Given the description of an element on the screen output the (x, y) to click on. 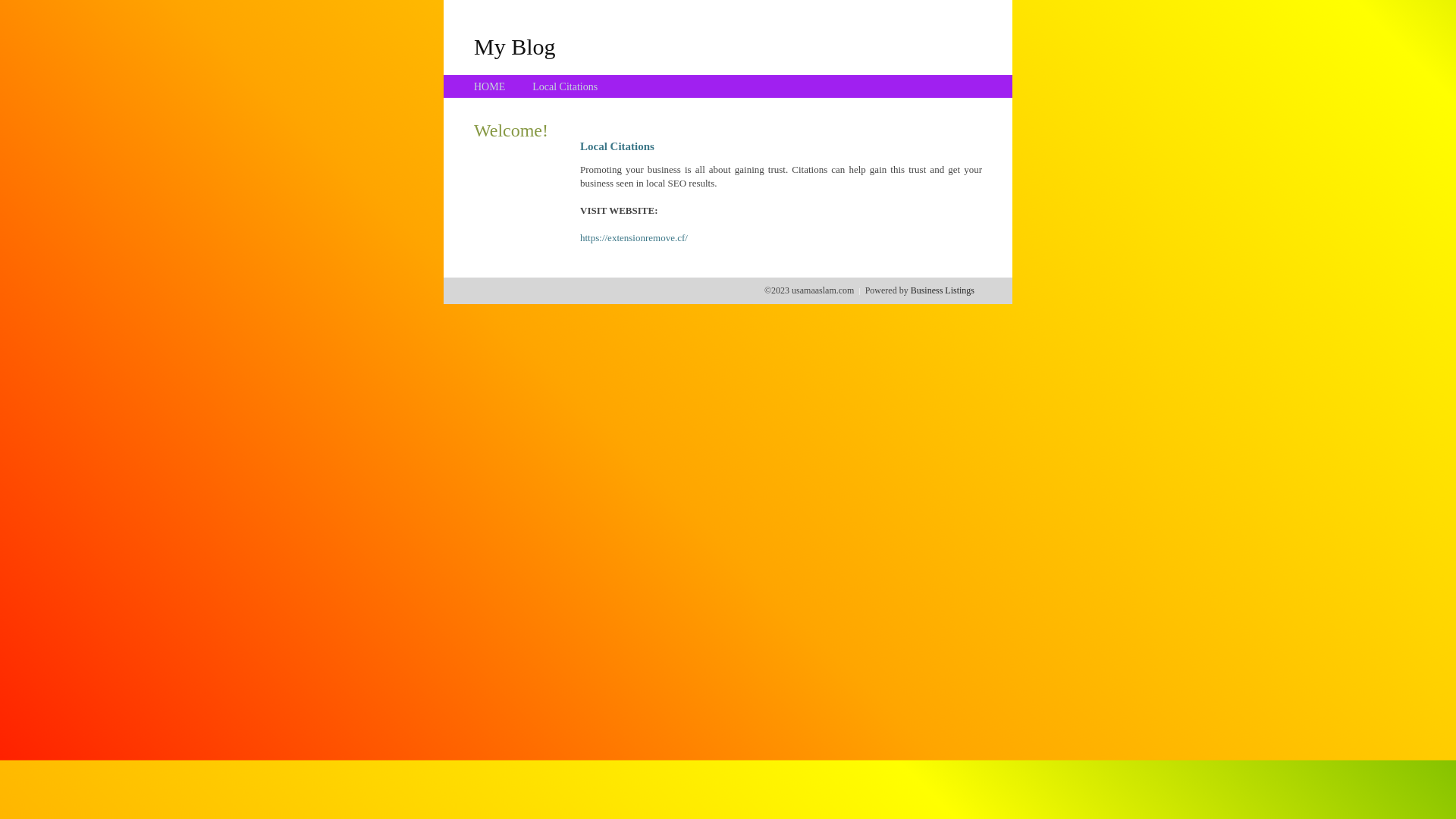
HOME Element type: text (489, 86)
My Blog Element type: text (514, 46)
https://extensionremove.cf/ Element type: text (633, 237)
Business Listings Element type: text (942, 290)
Local Citations Element type: text (564, 86)
